Given the description of an element on the screen output the (x, y) to click on. 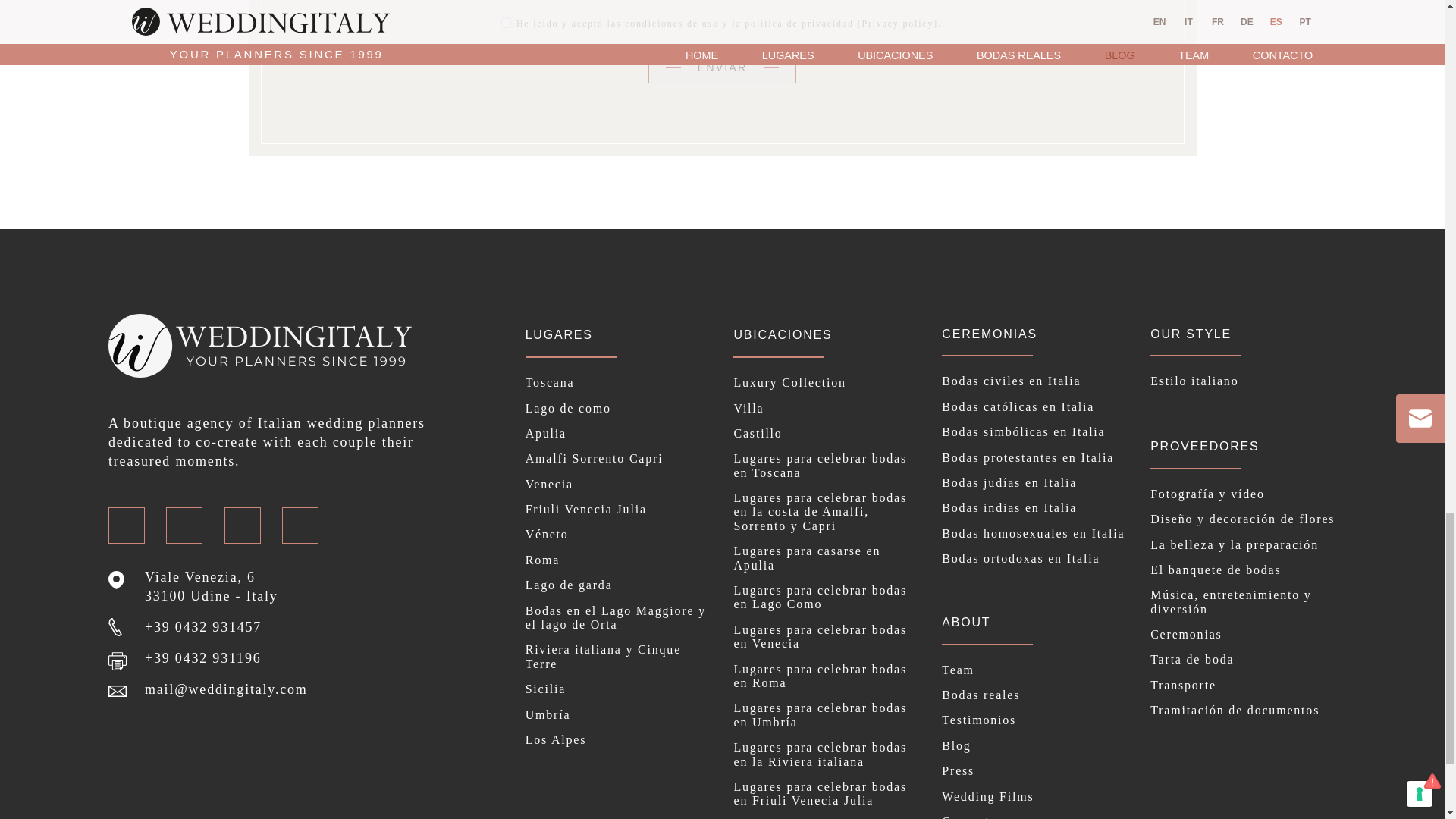
Toscana (618, 382)
ENVIAR (721, 67)
Lago de garda (618, 585)
Friuli Venecia Julia (618, 509)
Lago de como (618, 408)
Bodas en el Lago Maggiore y el lago de Orta (618, 618)
Amalfi Sorrento Capri (618, 459)
Roma (618, 560)
Riviera italiana y Cinque Terre (618, 656)
Venecia (618, 484)
Sicilia (618, 689)
LUGARES (558, 334)
Privacy policy (897, 23)
on (505, 22)
Apulia (618, 433)
